Given the description of an element on the screen output the (x, y) to click on. 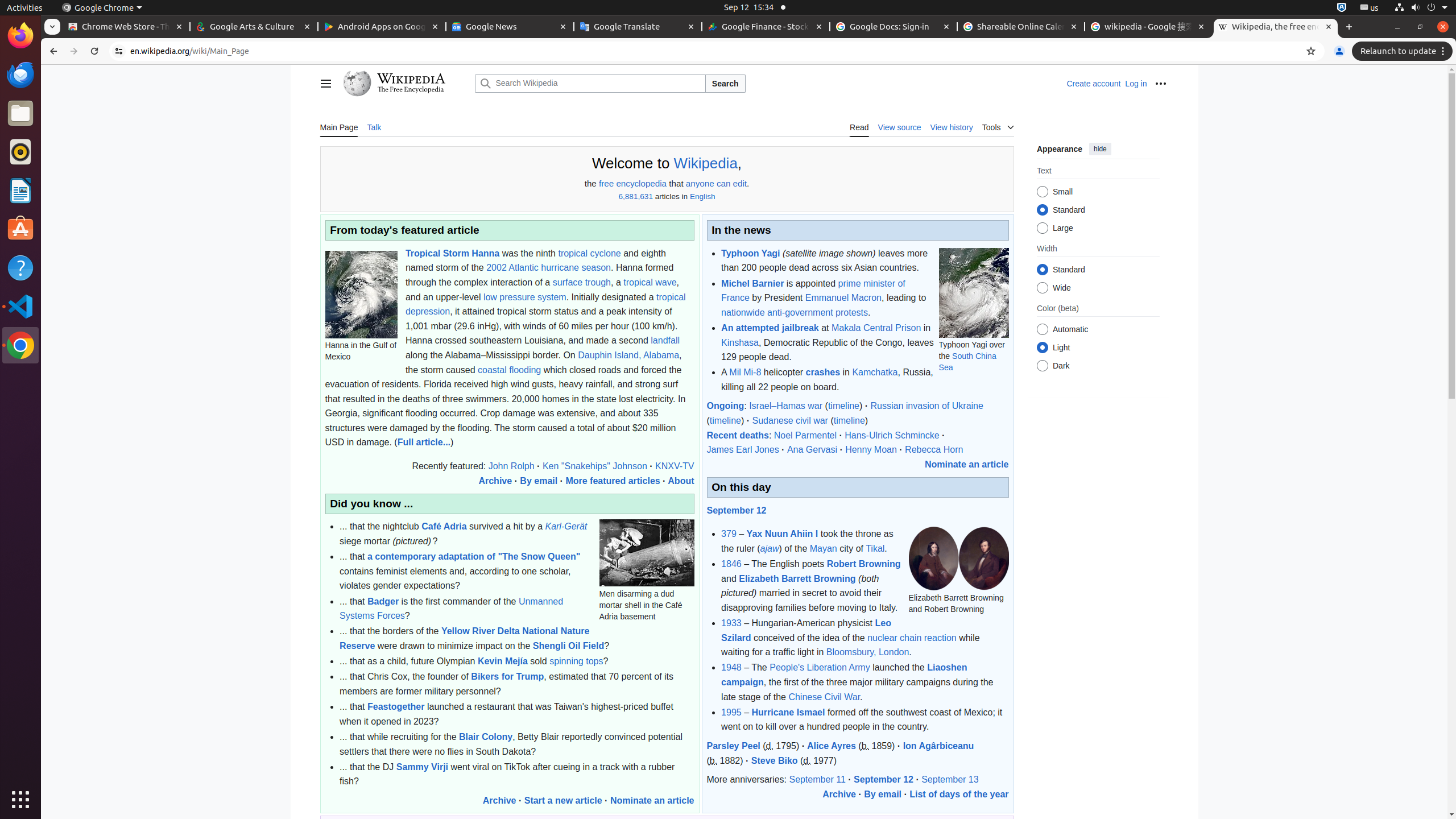
Google News - Memory usage - 55.6 MB Element type: page-tab (509, 26)
View site information Element type: push-button (118, 51)
crashes Element type: link (822, 372)
Badger Element type: link (383, 601)
Makala Central Prison Element type: link (875, 327)
